Given the description of an element on the screen output the (x, y) to click on. 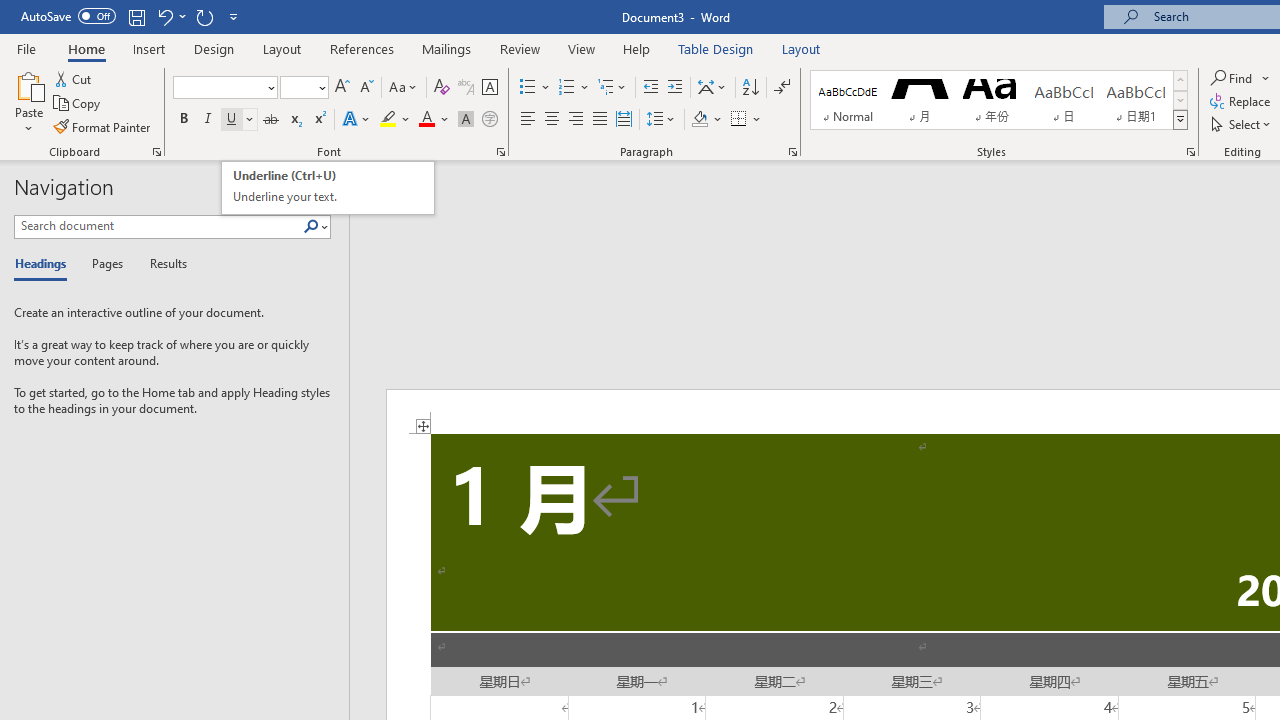
Shading (706, 119)
Replace... (1242, 101)
Text Effects and Typography (357, 119)
Italic (207, 119)
Align Right (575, 119)
Select (1242, 124)
Enclose Characters... (489, 119)
Subscript (294, 119)
Office Clipboard... (156, 151)
